Given the description of an element on the screen output the (x, y) to click on. 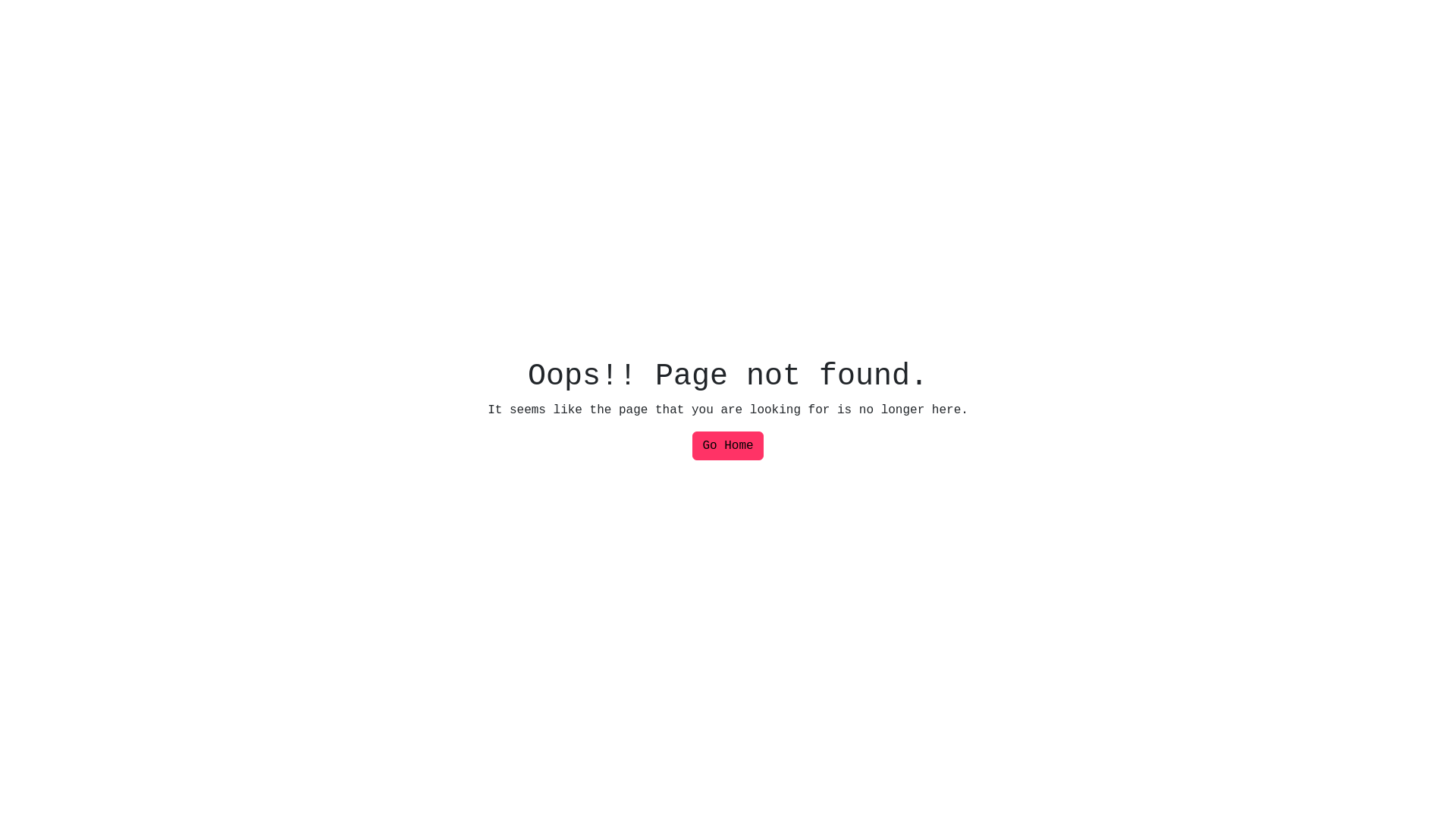
Go Home Element type: text (727, 445)
